Given the description of an element on the screen output the (x, y) to click on. 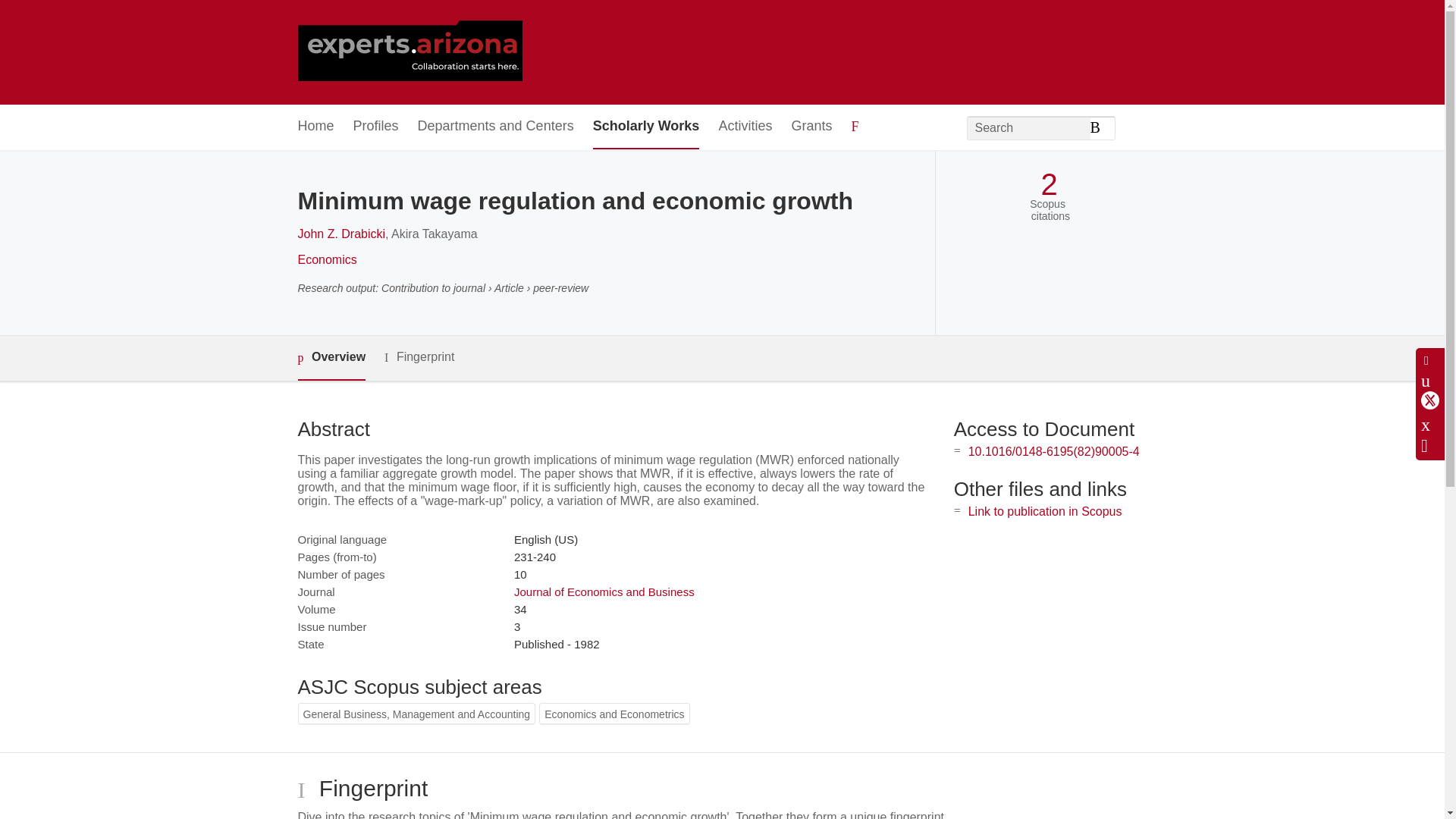
John Z. Drabicki (341, 233)
Scholarly Works (646, 126)
Link to publication in Scopus (1045, 511)
Fingerprint (419, 357)
Departments and Centers (495, 126)
Overview (331, 357)
Grants (810, 126)
Activities (744, 126)
University of Arizona Home (409, 52)
